Given the description of an element on the screen output the (x, y) to click on. 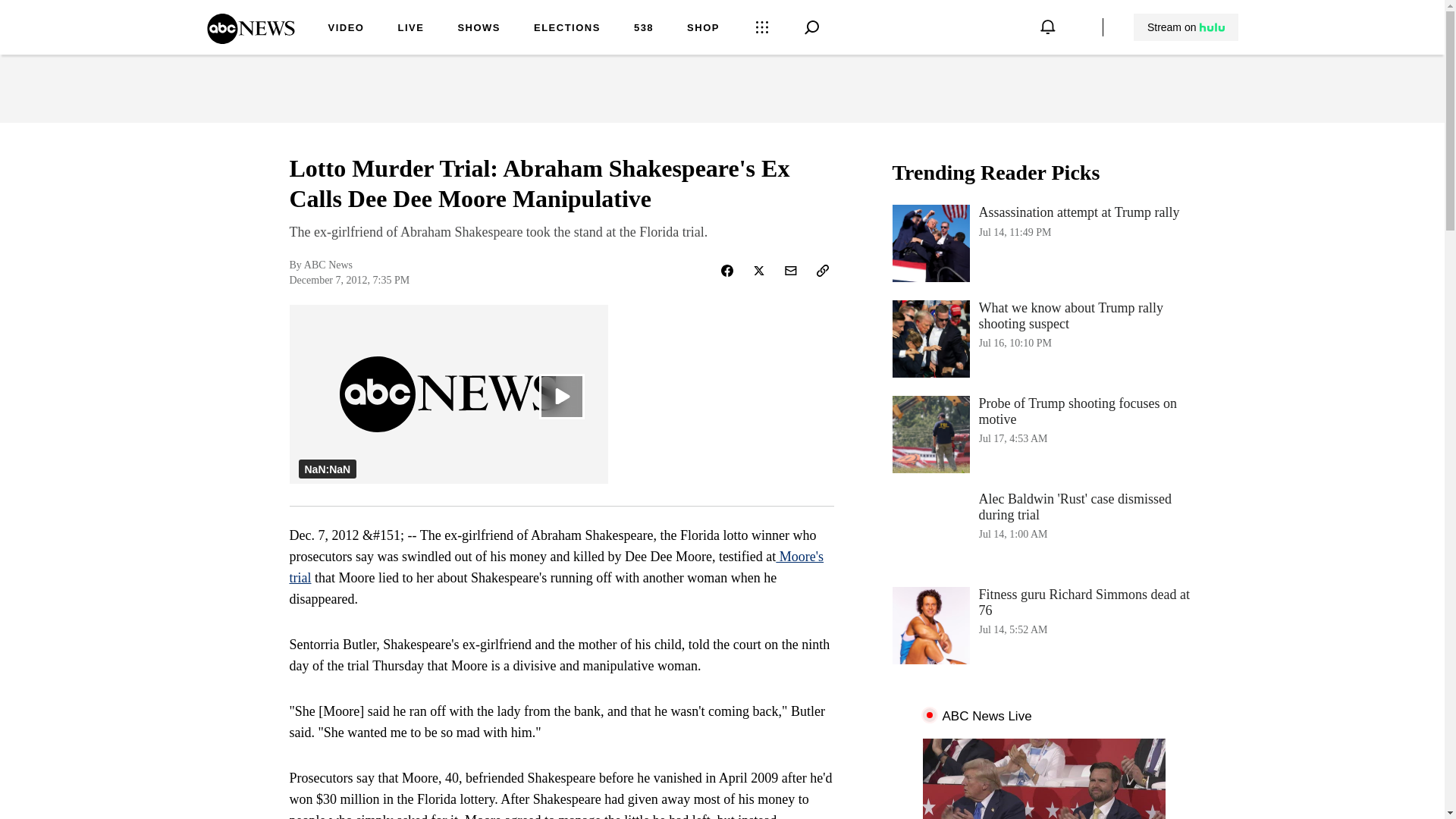
Stream on (1186, 26)
Moore's trial (556, 566)
SHOWS (478, 28)
ELECTIONS (566, 28)
SHOP (703, 28)
538 (643, 28)
LIVE (410, 28)
ABC News (1043, 434)
Stream on (1043, 242)
VIDEO (250, 38)
